Given the description of an element on the screen output the (x, y) to click on. 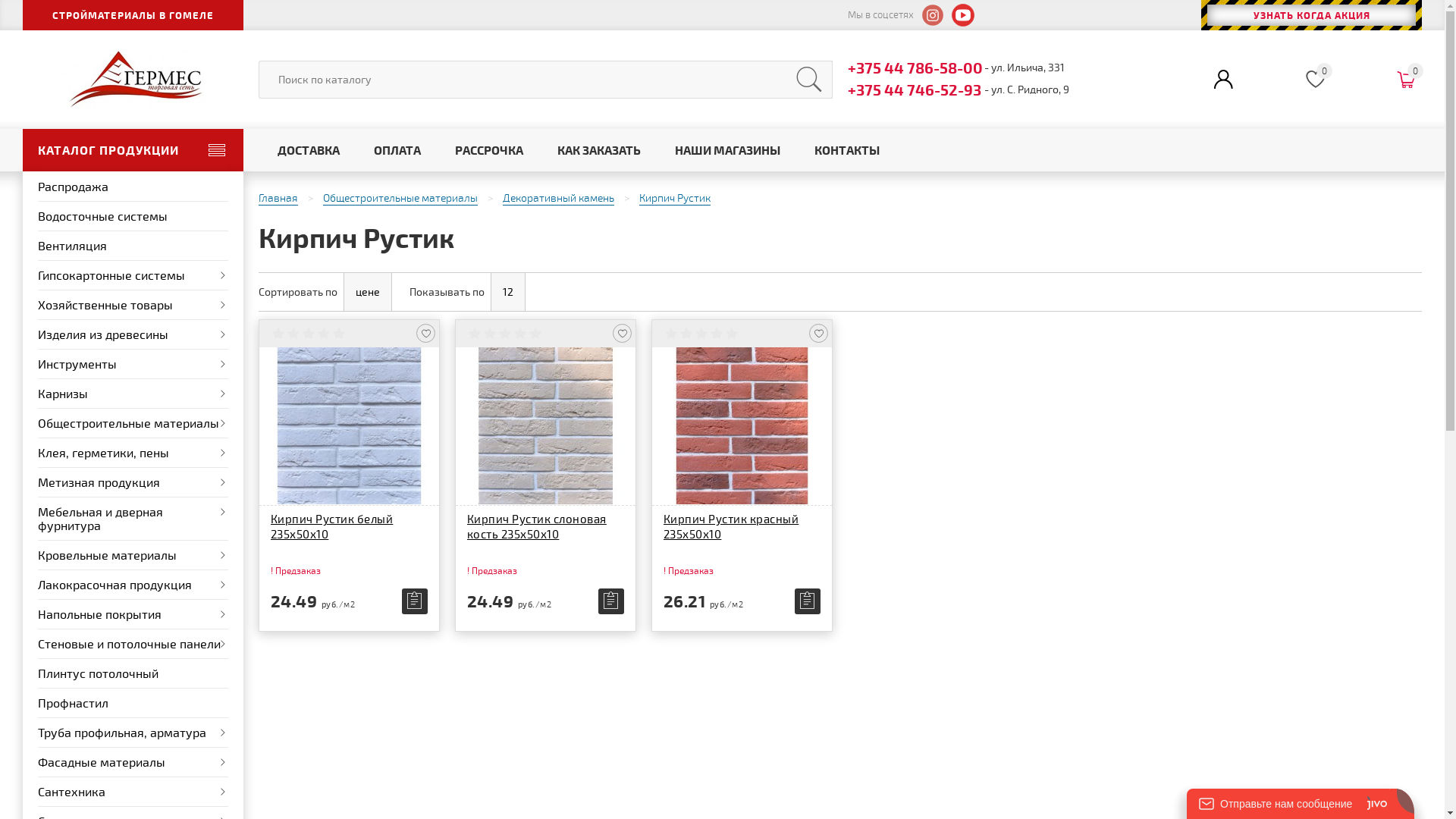
+375 44 746-52-93 Element type: text (915, 89)
+375 44 786-58-00 Element type: text (915, 67)
